Given the description of an element on the screen output the (x, y) to click on. 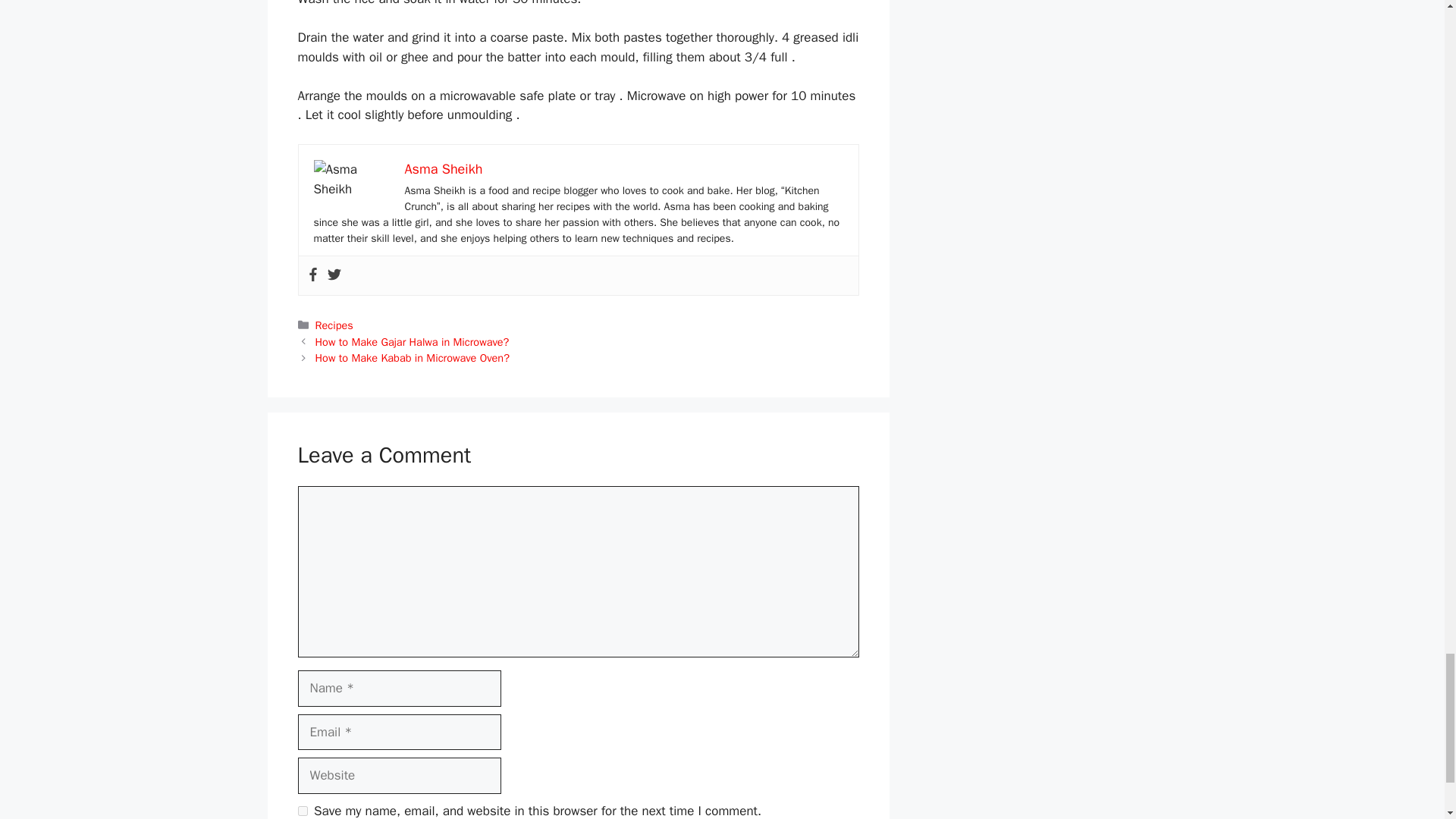
Asma Sheikh (443, 168)
yes (302, 810)
How to Make Gajar Halwa in Microwave? (412, 341)
Recipes (334, 325)
How to Make Kabab in Microwave Oven? (412, 357)
